Given the description of an element on the screen output the (x, y) to click on. 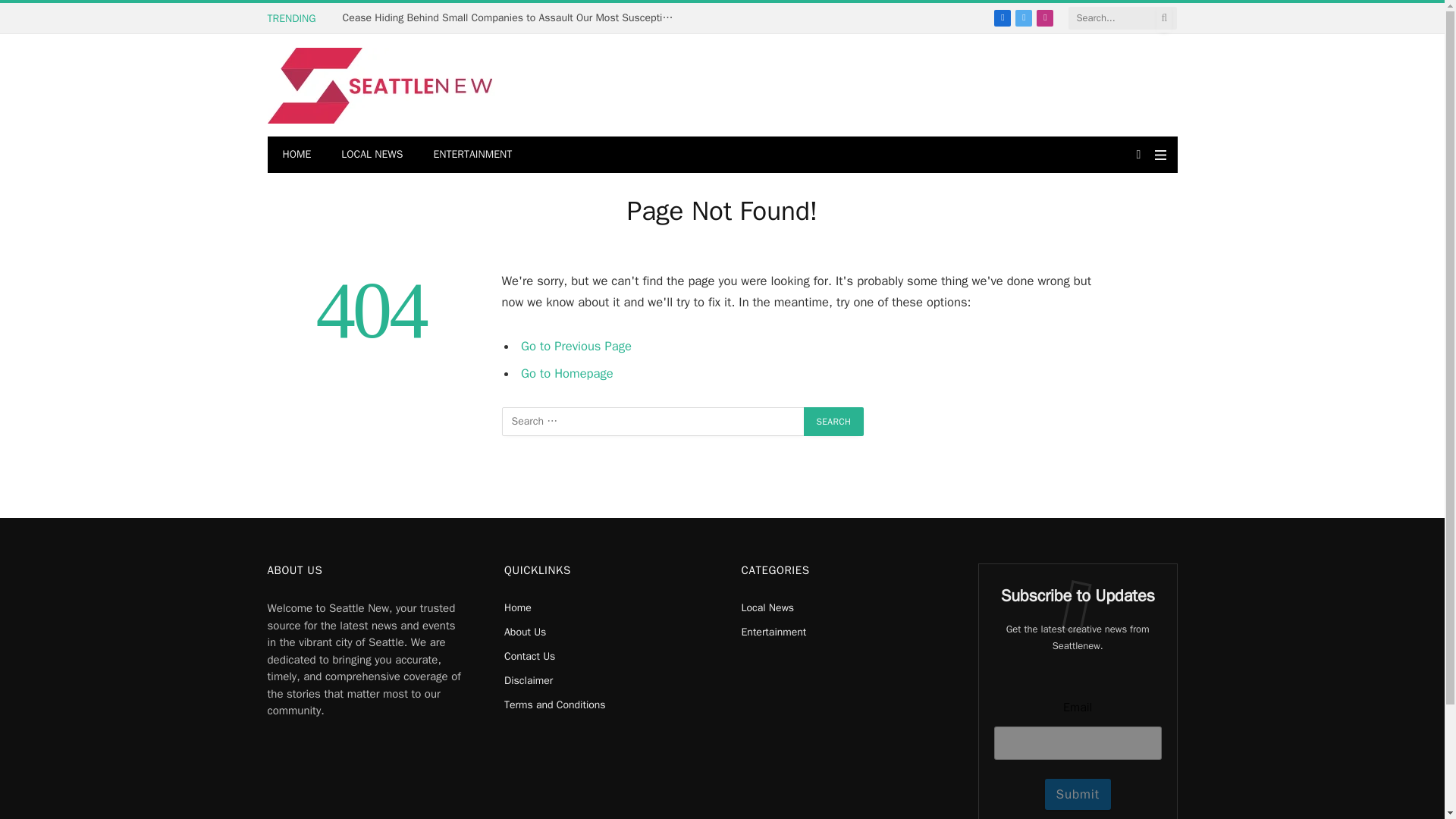
Local News (767, 607)
LOCAL NEWS (371, 154)
HOME (296, 154)
Search (833, 421)
Contact Us (528, 656)
Go to Previous Page (576, 345)
Entertainment (773, 631)
Disclaimer (528, 680)
Submit (1077, 793)
